Given the description of an element on the screen output the (x, y) to click on. 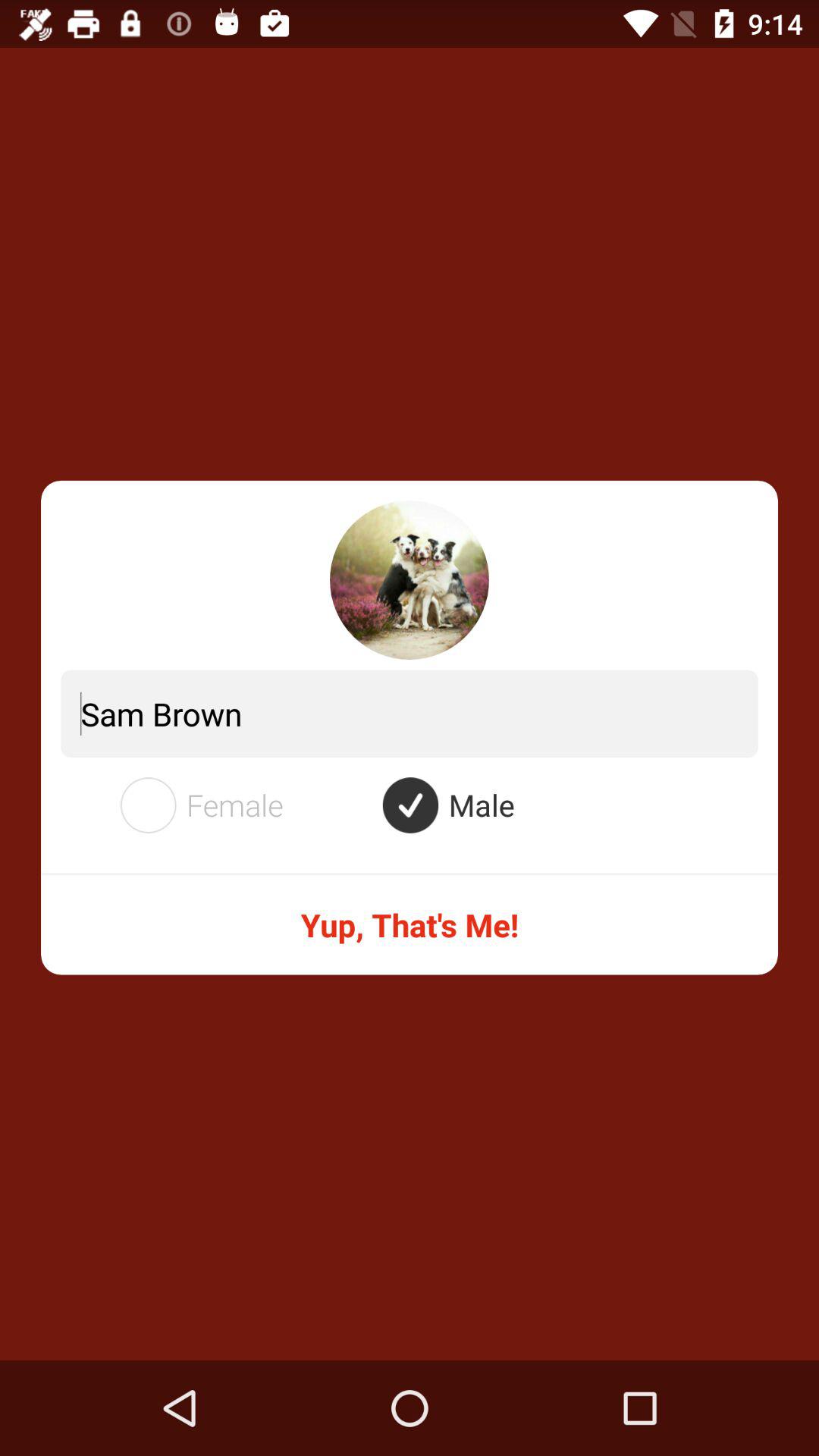
change avatar (409, 579)
